Given the description of an element on the screen output the (x, y) to click on. 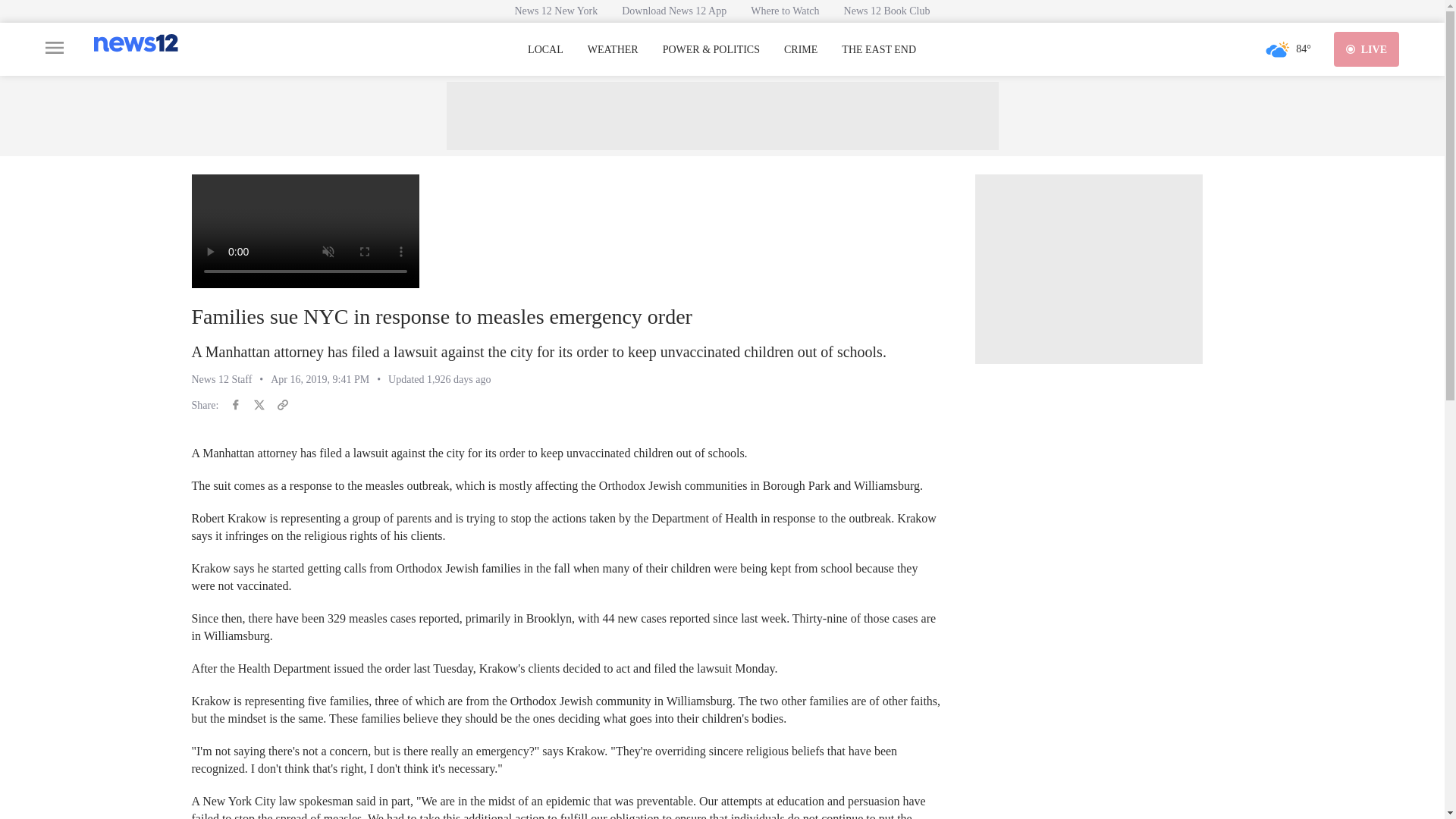
LIVE (1366, 48)
WEATHER (613, 49)
Mostly Cloudy (1277, 48)
Where to Watch (784, 11)
LOCAL (545, 49)
THE EAST END (878, 49)
News 12 Book Club (886, 11)
News 12 New York (556, 11)
Download News 12 App (673, 11)
CRIME (800, 49)
